Given the description of an element on the screen output the (x, y) to click on. 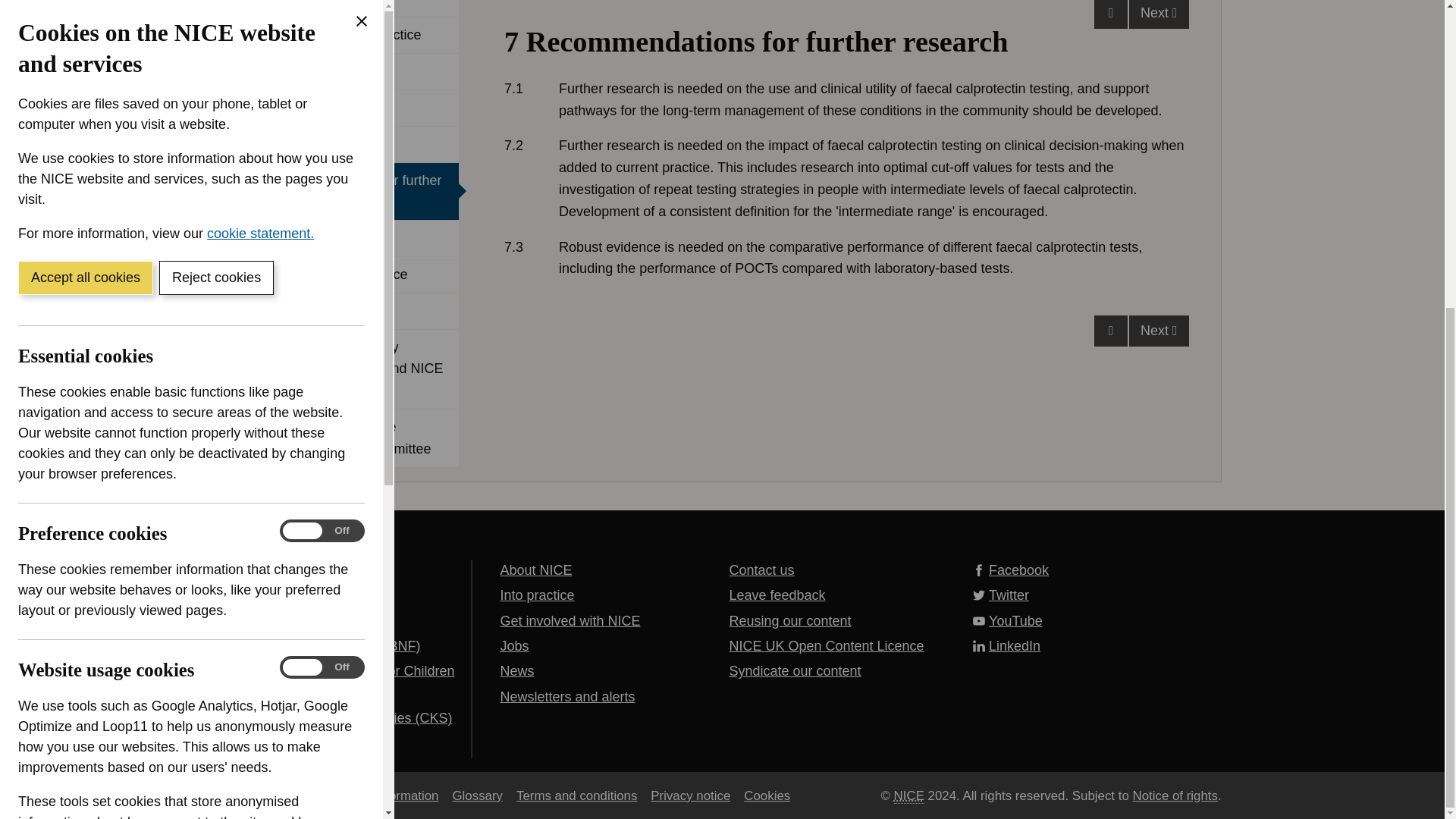
Show vendors within this category (130, 758)
Show vendors within this category (130, 395)
National Institute for Health and Care Excellence (908, 795)
